Given the description of an element on the screen output the (x, y) to click on. 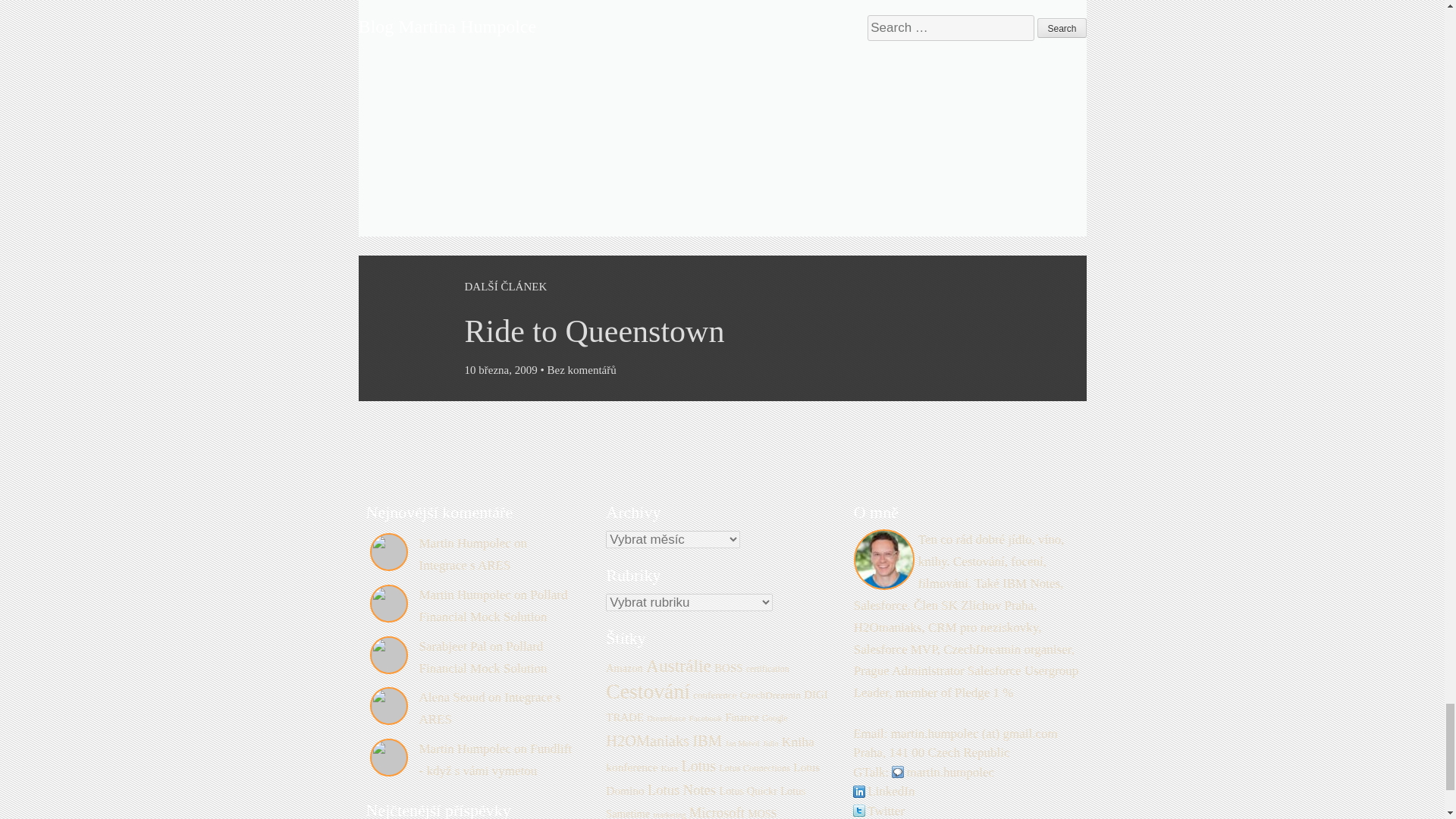
Pollard Financial Mock Solution (493, 606)
Martin Humpolec (465, 748)
Integrace s ARES (465, 564)
Martin Humpolec (465, 594)
Martin Humpolec (465, 543)
Pollard Financial Mock Solution (483, 657)
BOSS (728, 667)
Amazon (623, 667)
Comment Form (722, 99)
Integrace s ARES (489, 708)
